Given the description of an element on the screen output the (x, y) to click on. 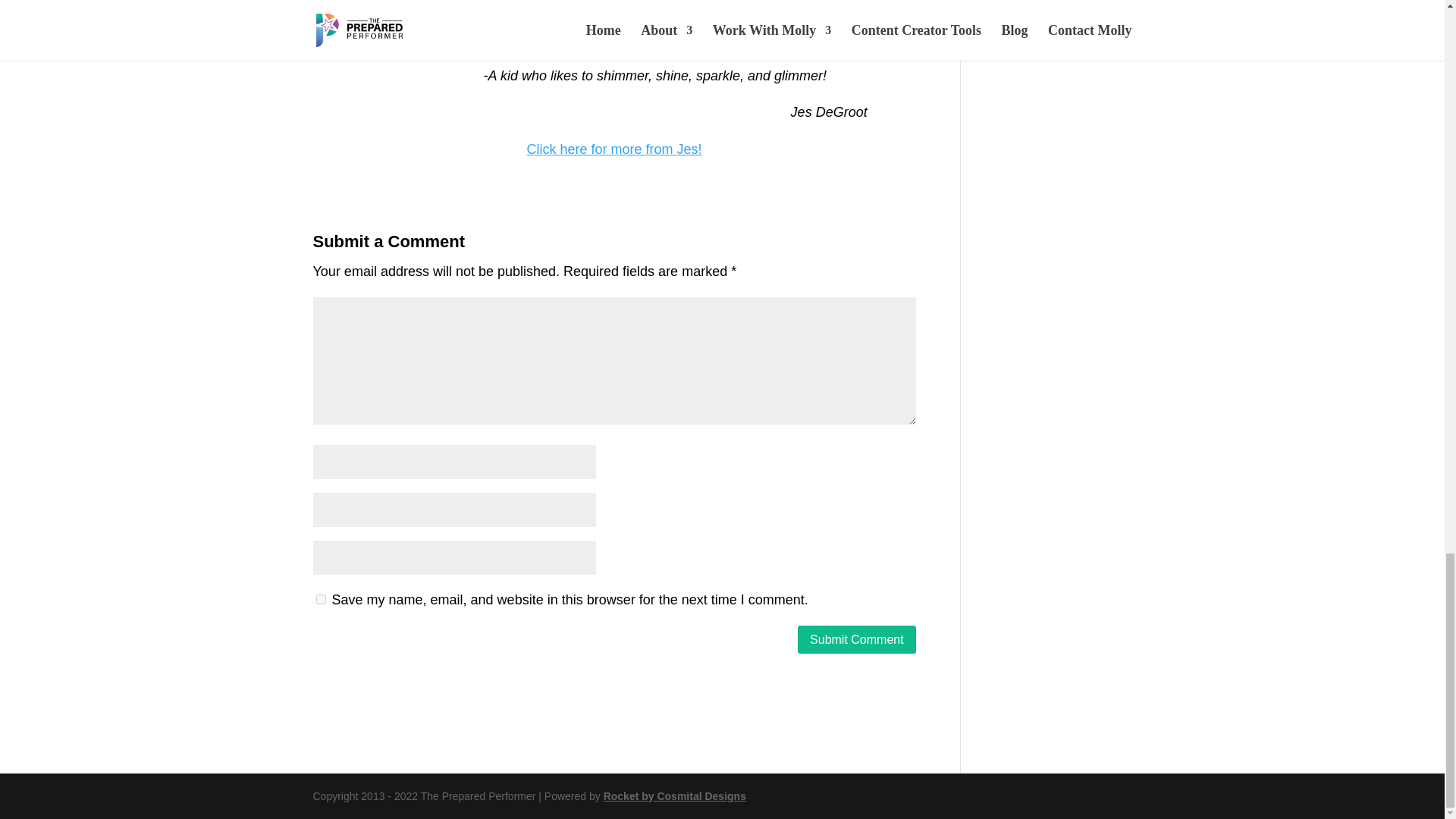
Click here for more from Jes! (614, 149)
Submit Comment (856, 639)
Submit Comment (856, 639)
Rocket by Cosmital Designs (674, 796)
yes (319, 599)
